Given the description of an element on the screen output the (x, y) to click on. 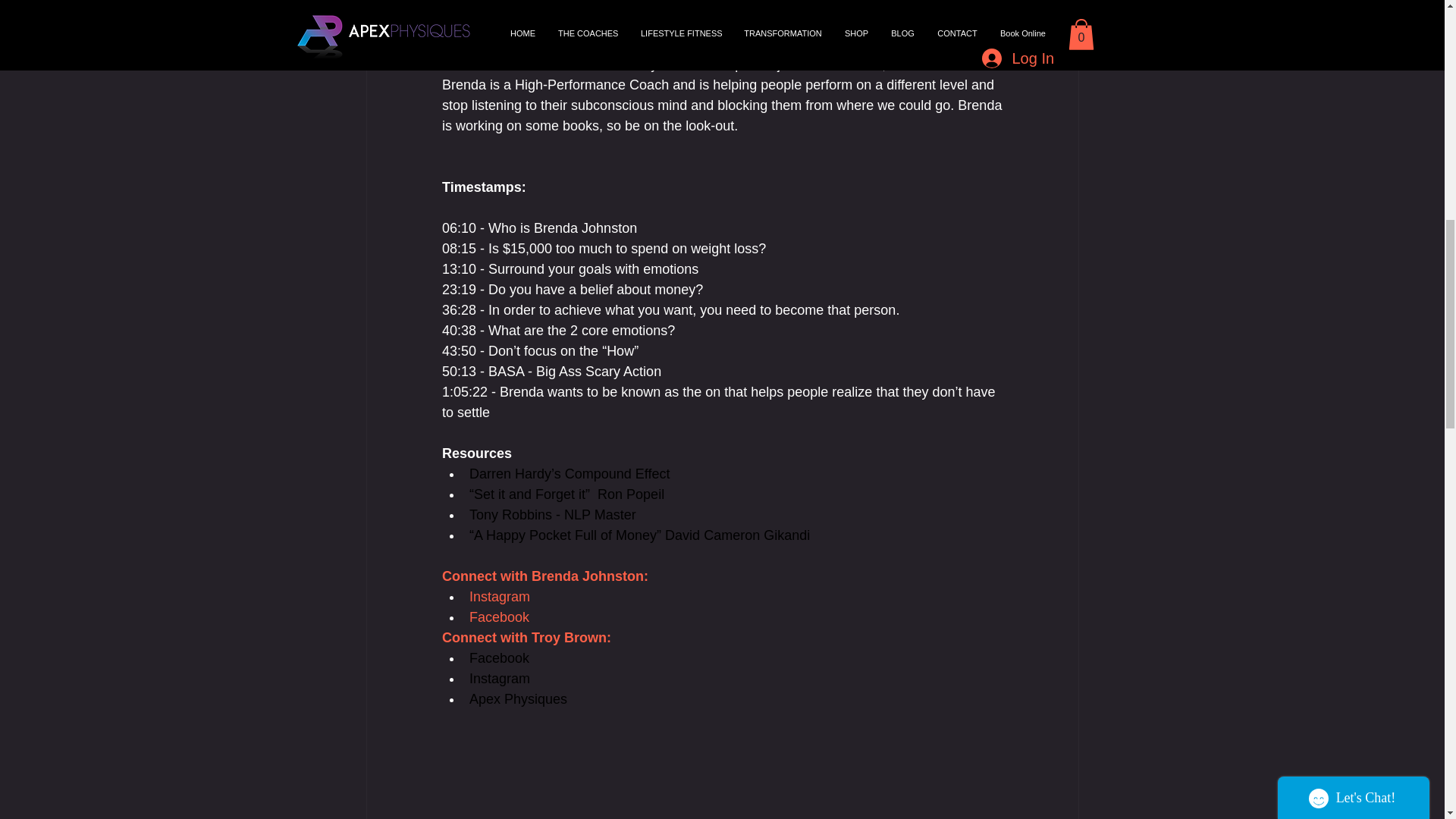
Connect with Troy Brown: (525, 637)
remote content (721, 6)
Facebook (498, 616)
Connect with Brenda Johnston: (544, 575)
Instagram (498, 678)
Instagram (498, 596)
Apex Physiques (517, 698)
Tony Robbins - NLP Master (551, 514)
Facebook (498, 657)
